Given the description of an element on the screen output the (x, y) to click on. 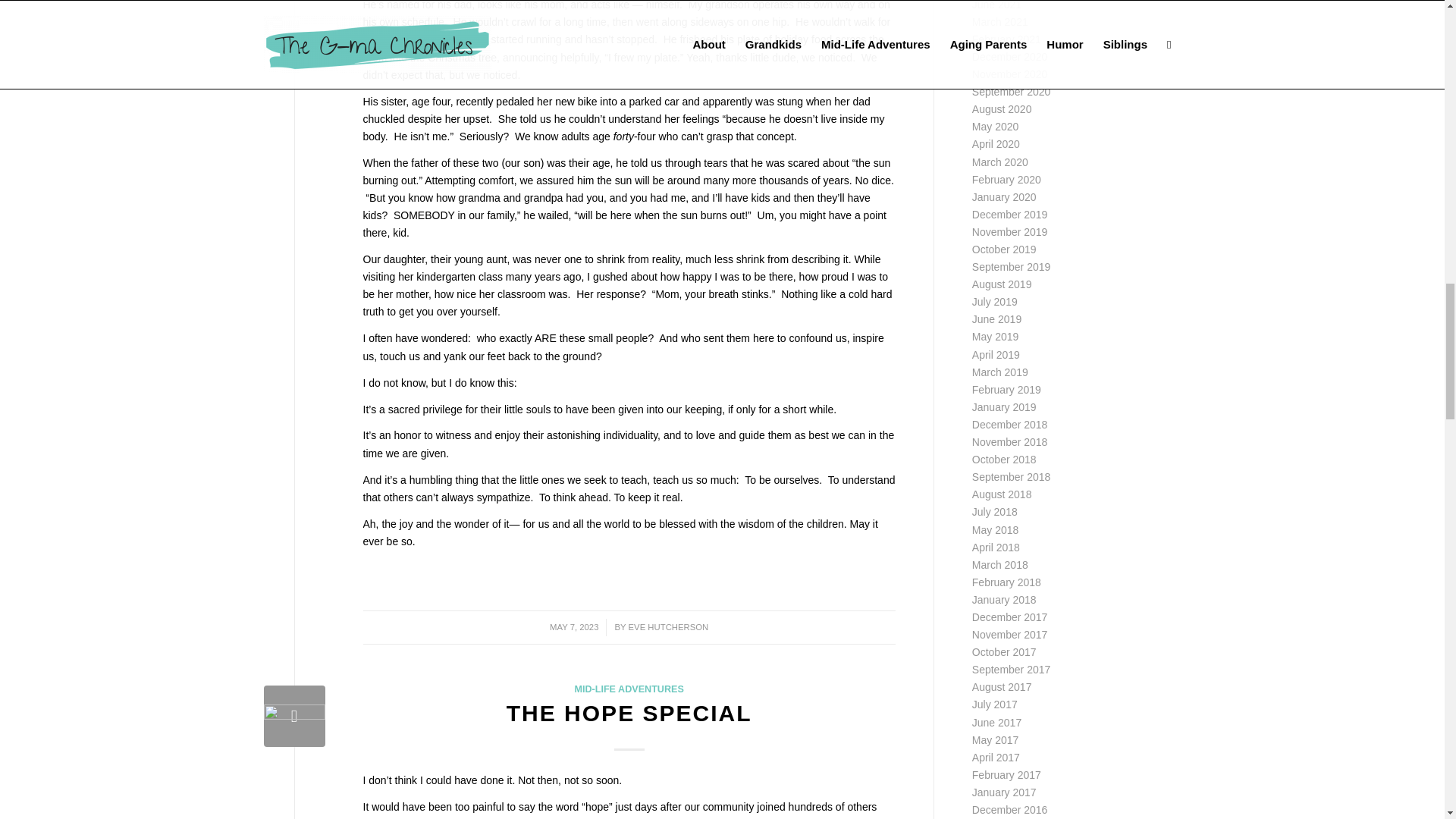
Posts by Eve Hutcherson (668, 626)
THE HOPE SPECIAL (629, 713)
MID-LIFE ADVENTURES (627, 688)
Permanent Link: The HOPE Special (629, 713)
EVE HUTCHERSON (668, 626)
